Given the description of an element on the screen output the (x, y) to click on. 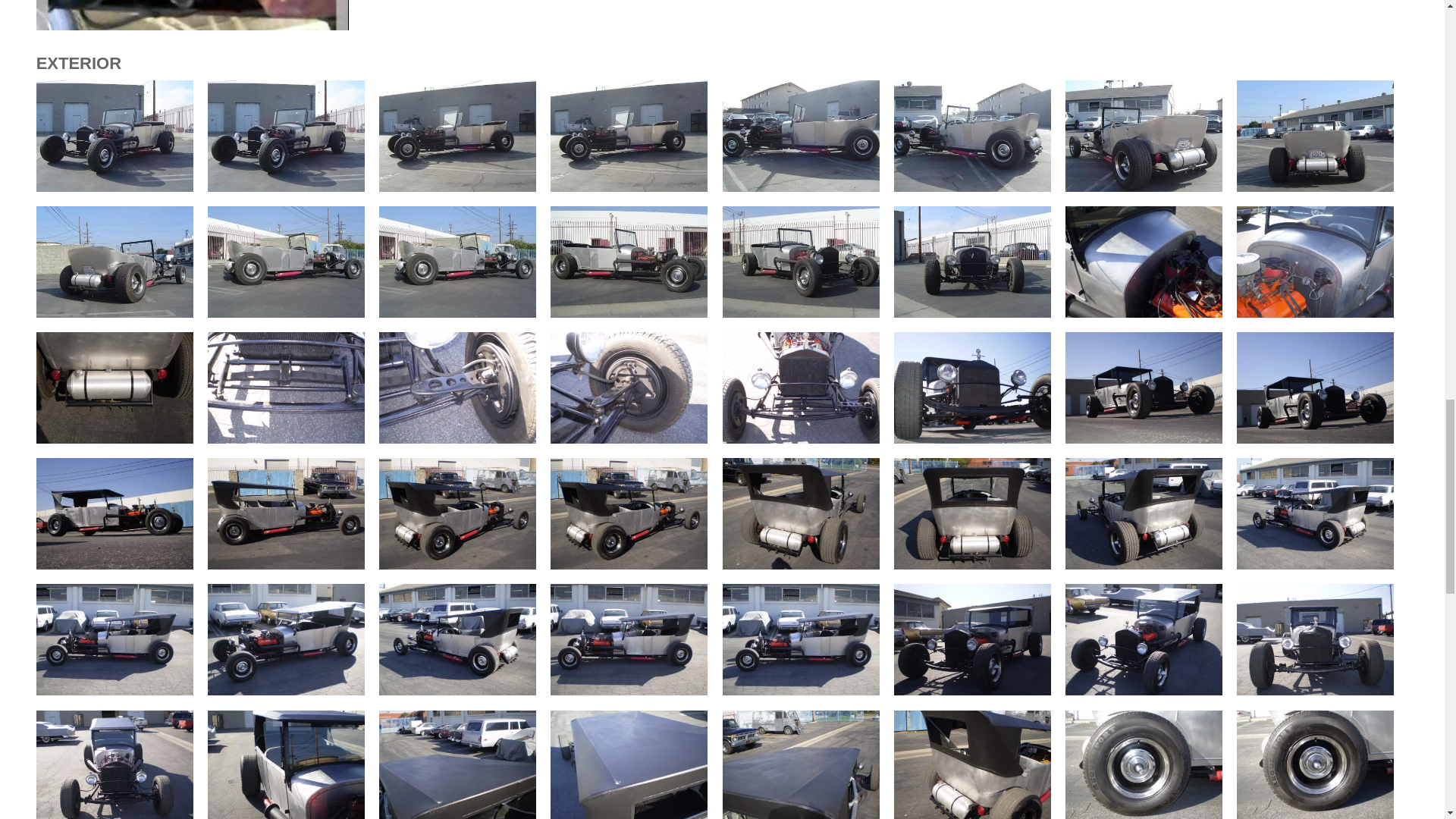
1926 Ford Phaeton Model T Coupe (114, 135)
26pheaton10 (800, 187)
26pheaton11 (628, 187)
1926 Ford Phaeton Model T Coupe (628, 135)
1926 Ford Phaeton Model T Coupe (456, 135)
26pheaton12-1 (114, 187)
1926 Ford Phaeton Model T Coupe (286, 135)
26pheaton12 (286, 187)
26pheaton11-1 (456, 187)
